Given the description of an element on the screen output the (x, y) to click on. 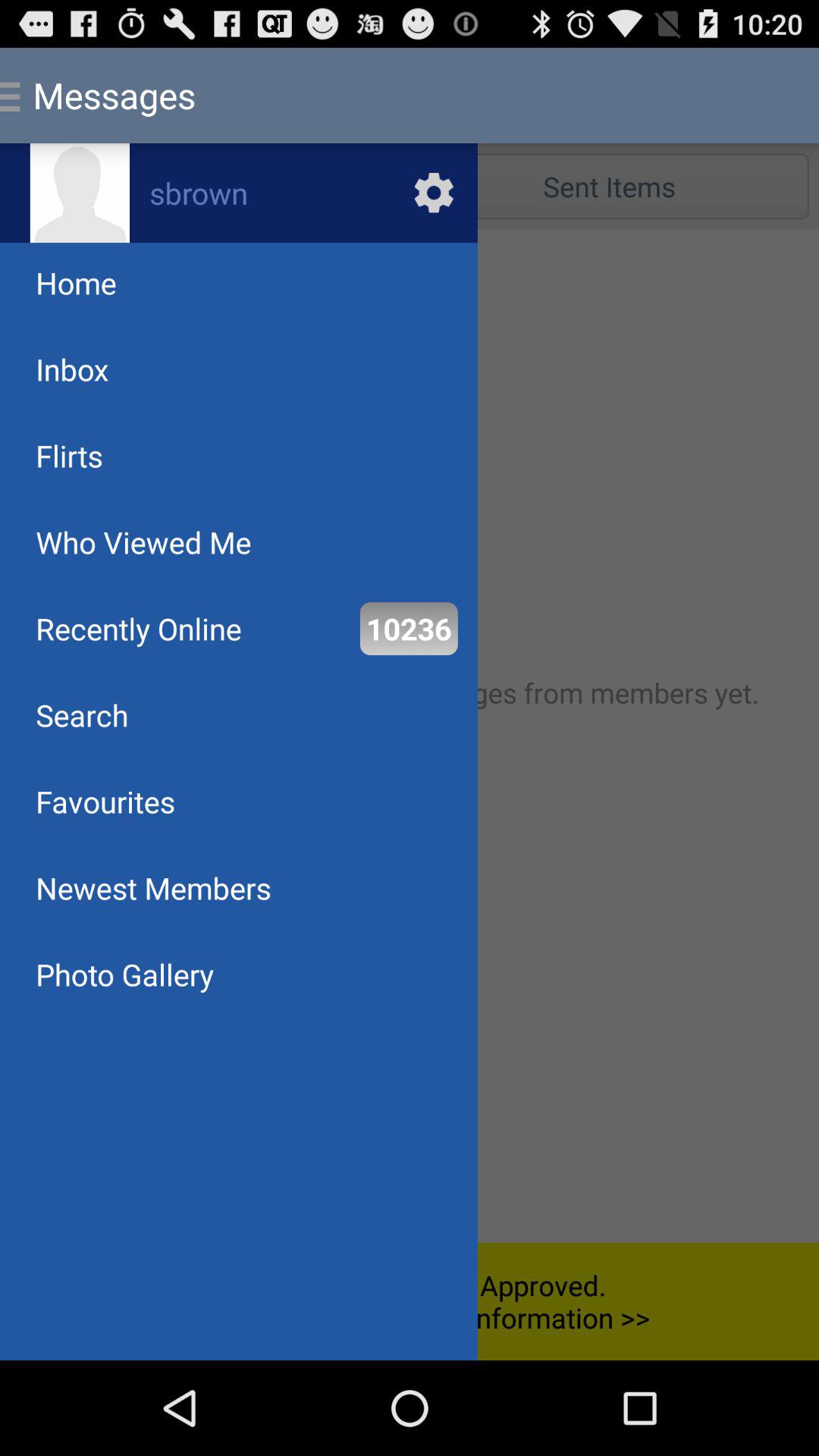
jump until sent items icon (608, 186)
